Given the description of an element on the screen output the (x, y) to click on. 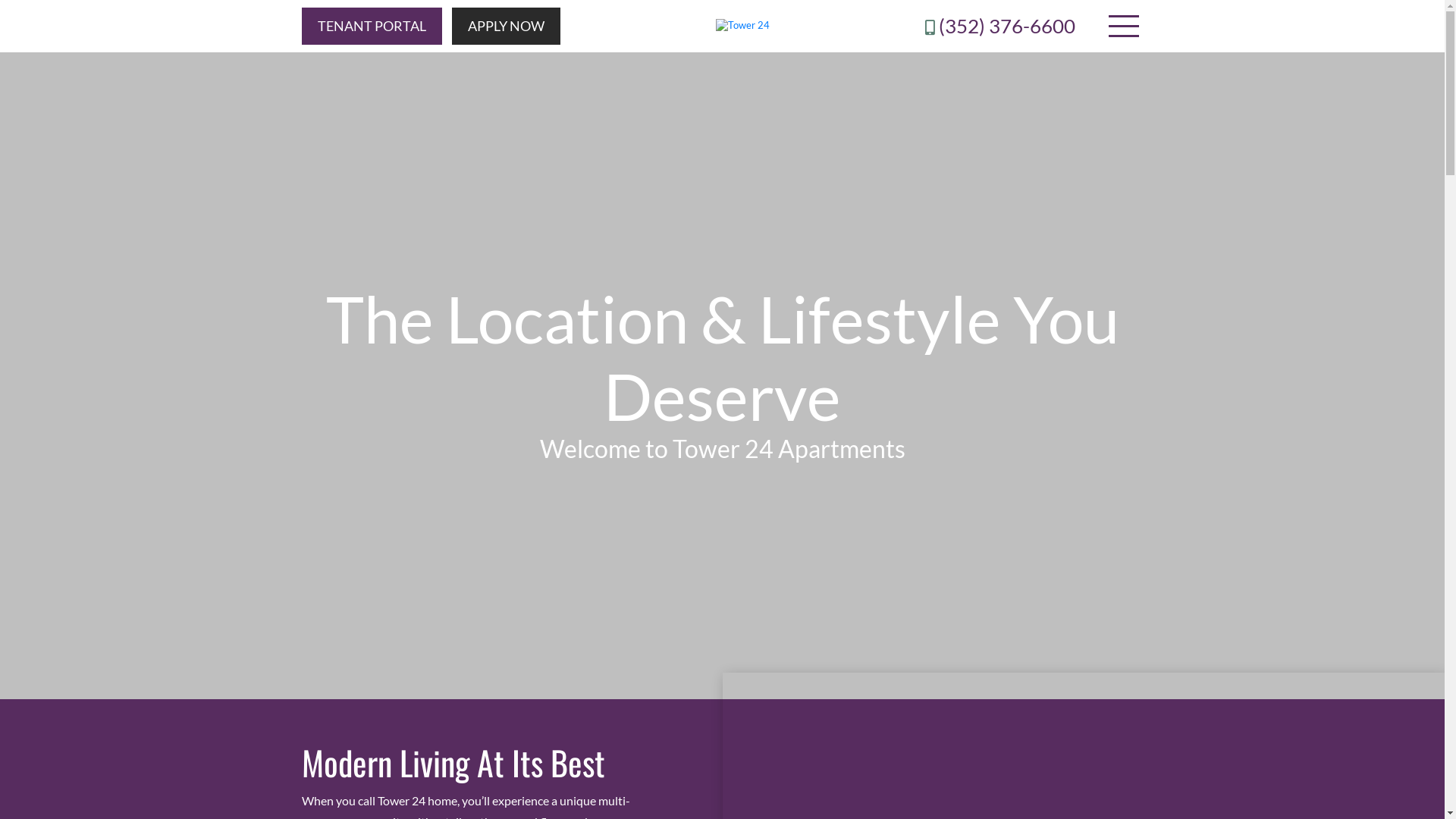
TENANT PORTAL Element type: text (371, 25)
Gainesville Apartments | Tower 24 Element type: hover (742, 25)
APPLY NOW Element type: text (505, 25)
(352) 376-6600 Element type: text (1000, 25)
